Given the description of an element on the screen output the (x, y) to click on. 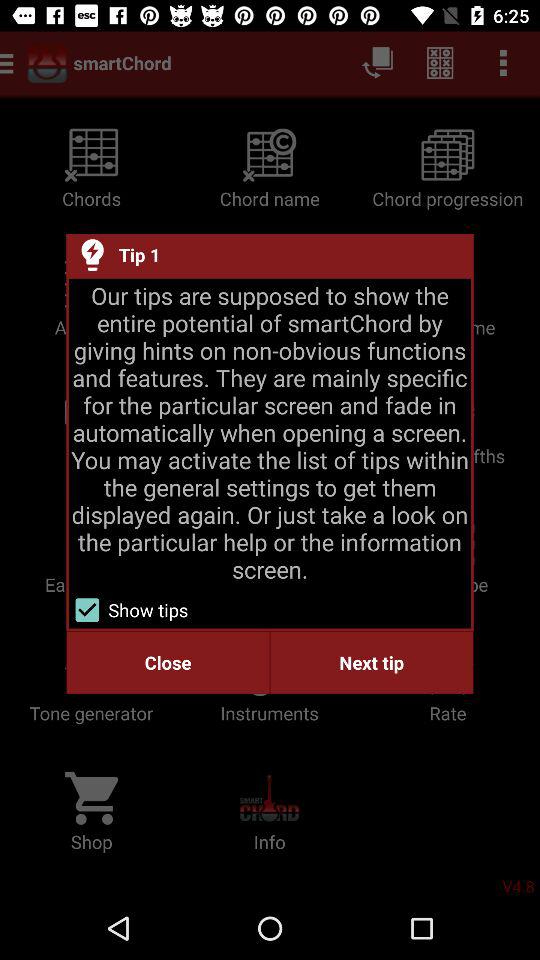
turn off item below the show tips (168, 662)
